Given the description of an element on the screen output the (x, y) to click on. 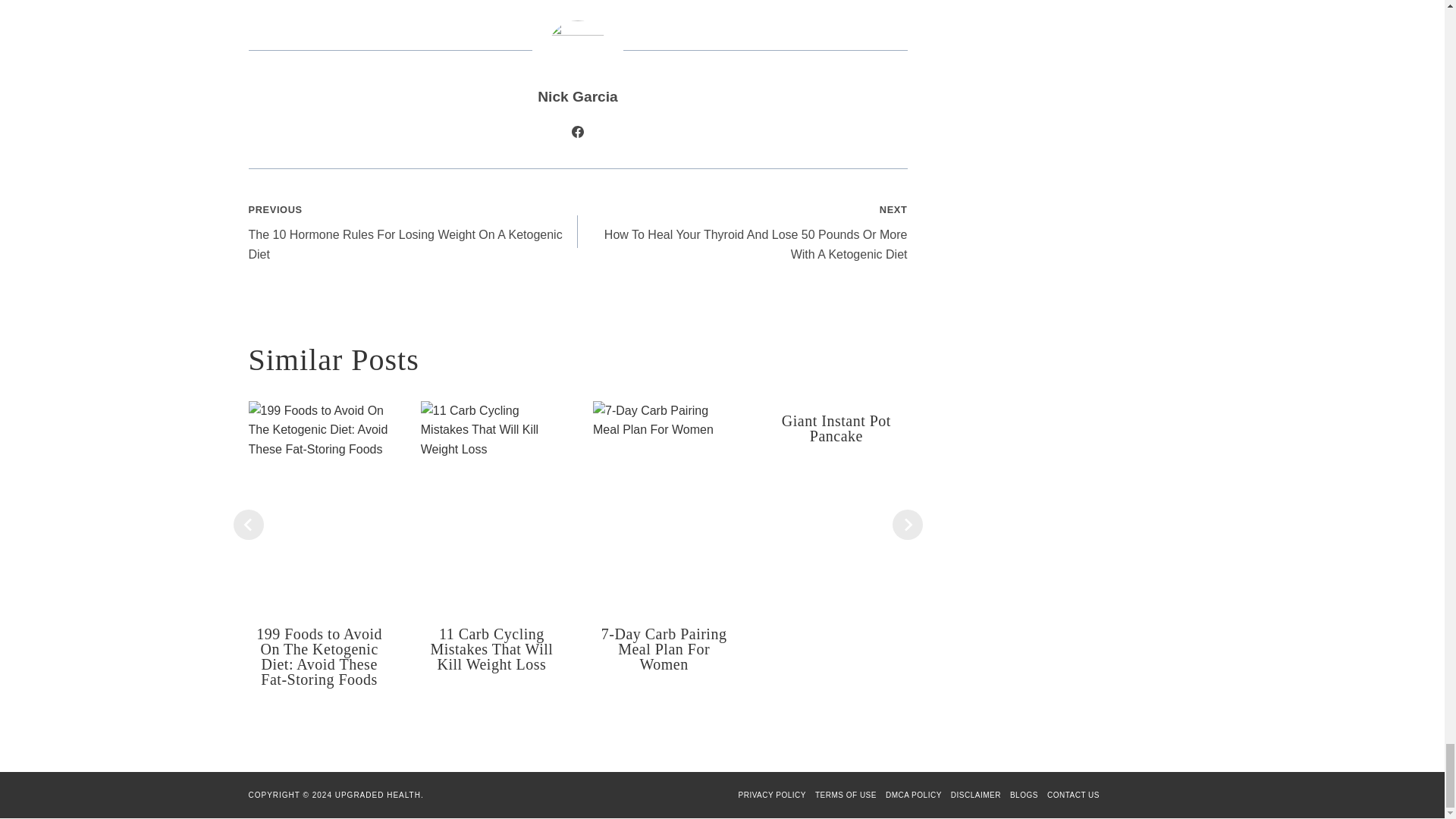
Posts by Nick Garcia (577, 96)
Follow Nick Garcia on Facebook (577, 131)
